Given the description of an element on the screen output the (x, y) to click on. 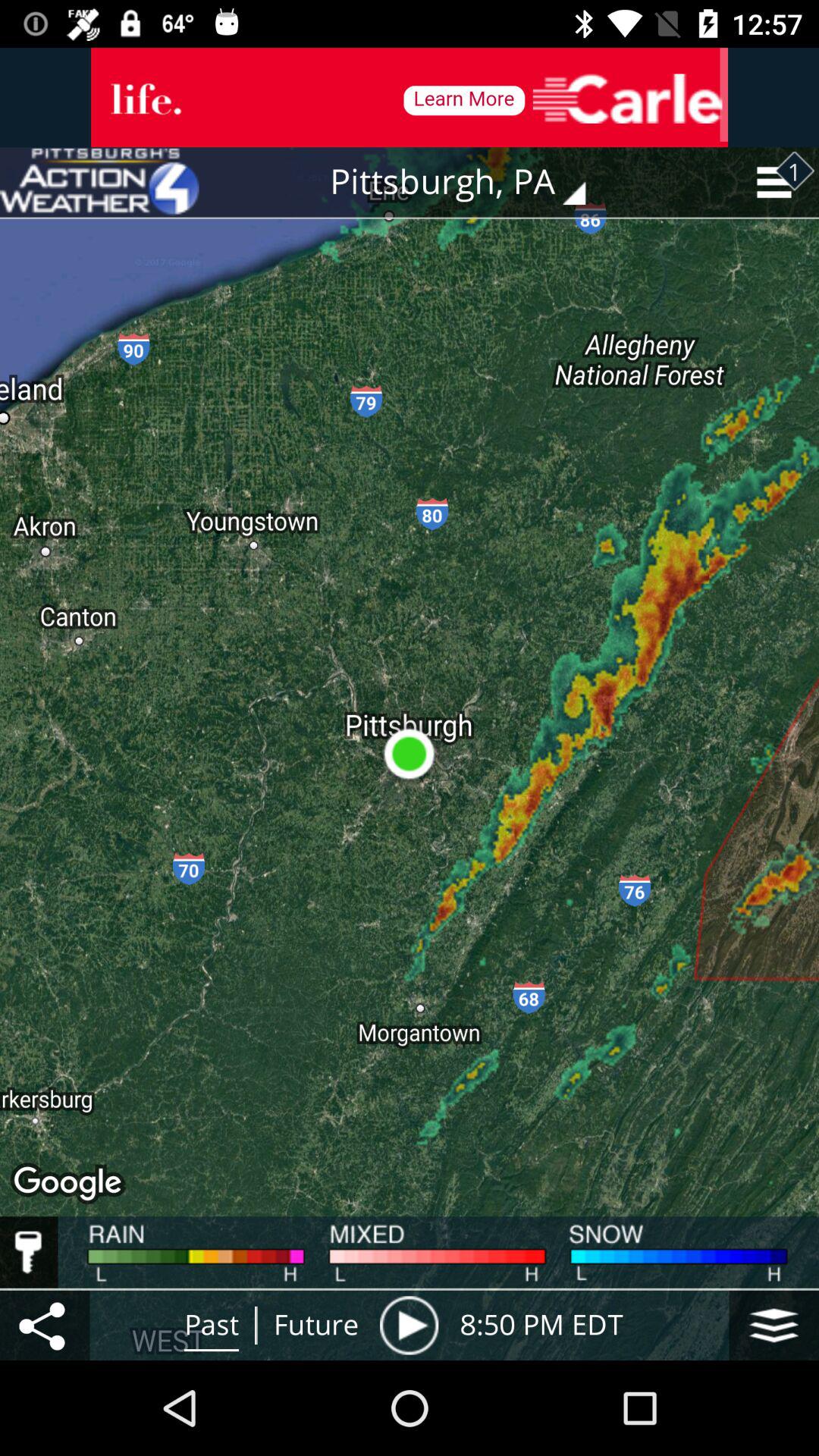
select icon to the left of the pittsburgh, pa (99, 182)
